Given the description of an element on the screen output the (x, y) to click on. 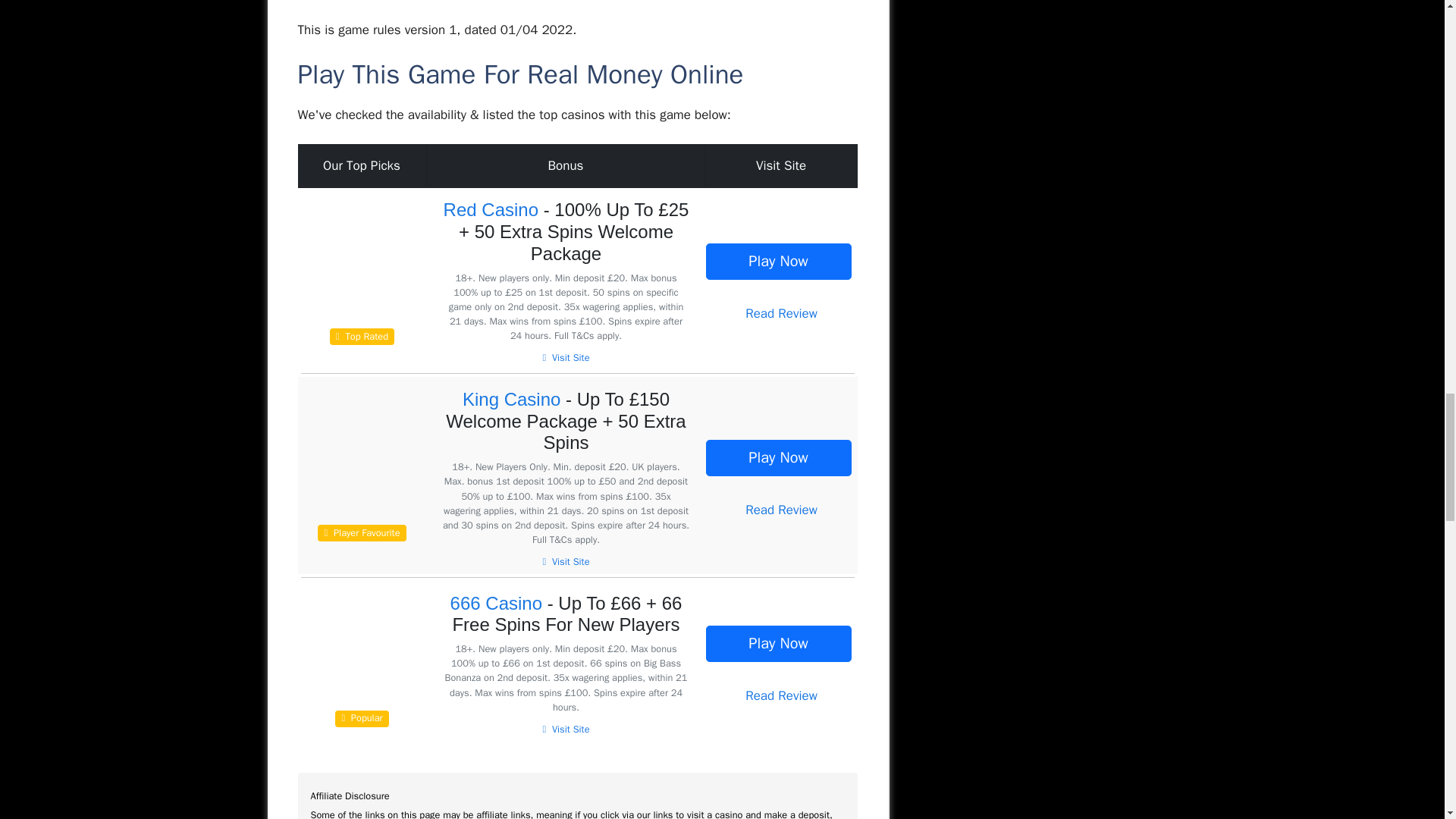
Play Now (777, 643)
Play Now (777, 457)
Read Review (780, 509)
Visit Site (565, 729)
Top Rated (361, 325)
King Casino (511, 399)
Popular (361, 707)
Read Review (780, 313)
Visit Site (565, 357)
Visit Site (565, 562)
